Given the description of an element on the screen output the (x, y) to click on. 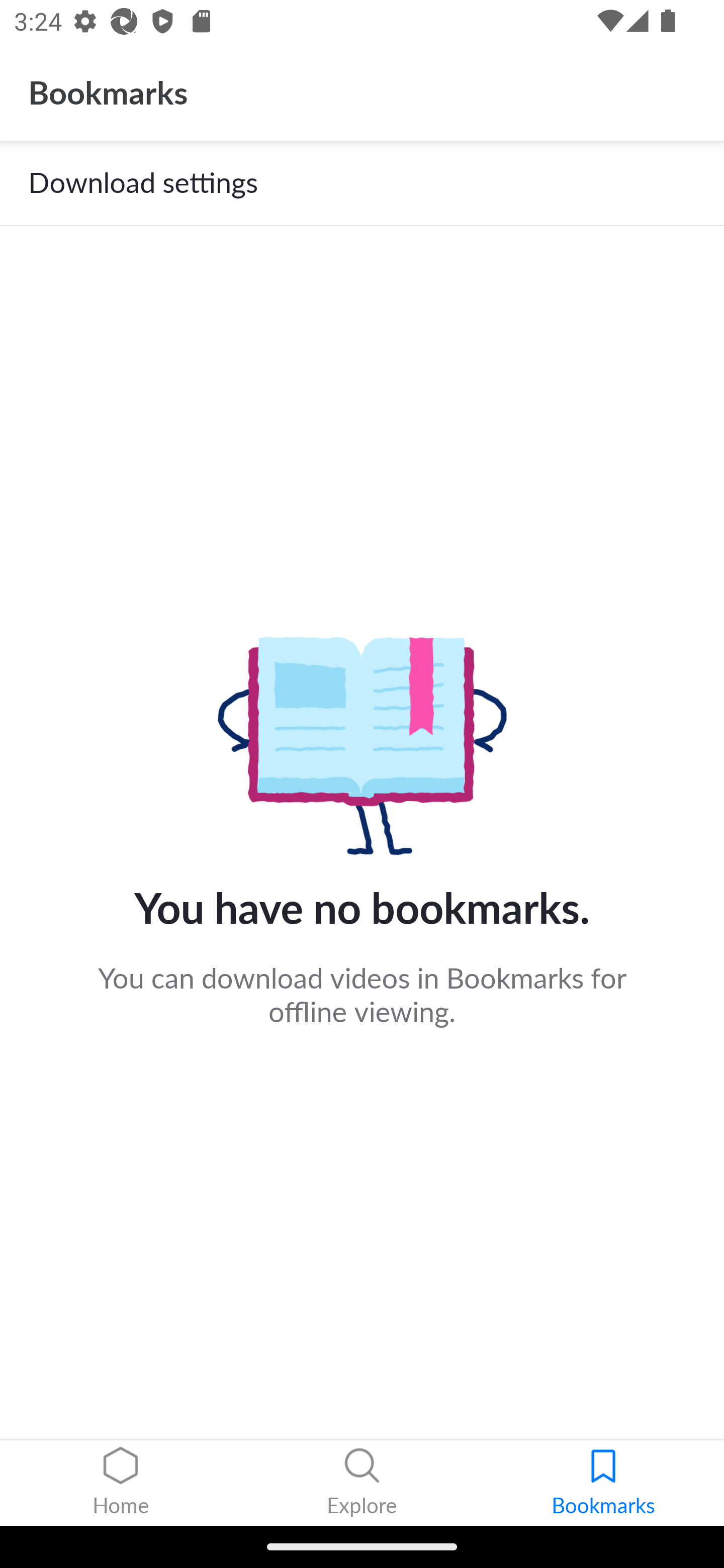
Download settings (362, 183)
Home (120, 1482)
Explore (361, 1482)
Bookmarks (603, 1482)
